Given the description of an element on the screen output the (x, y) to click on. 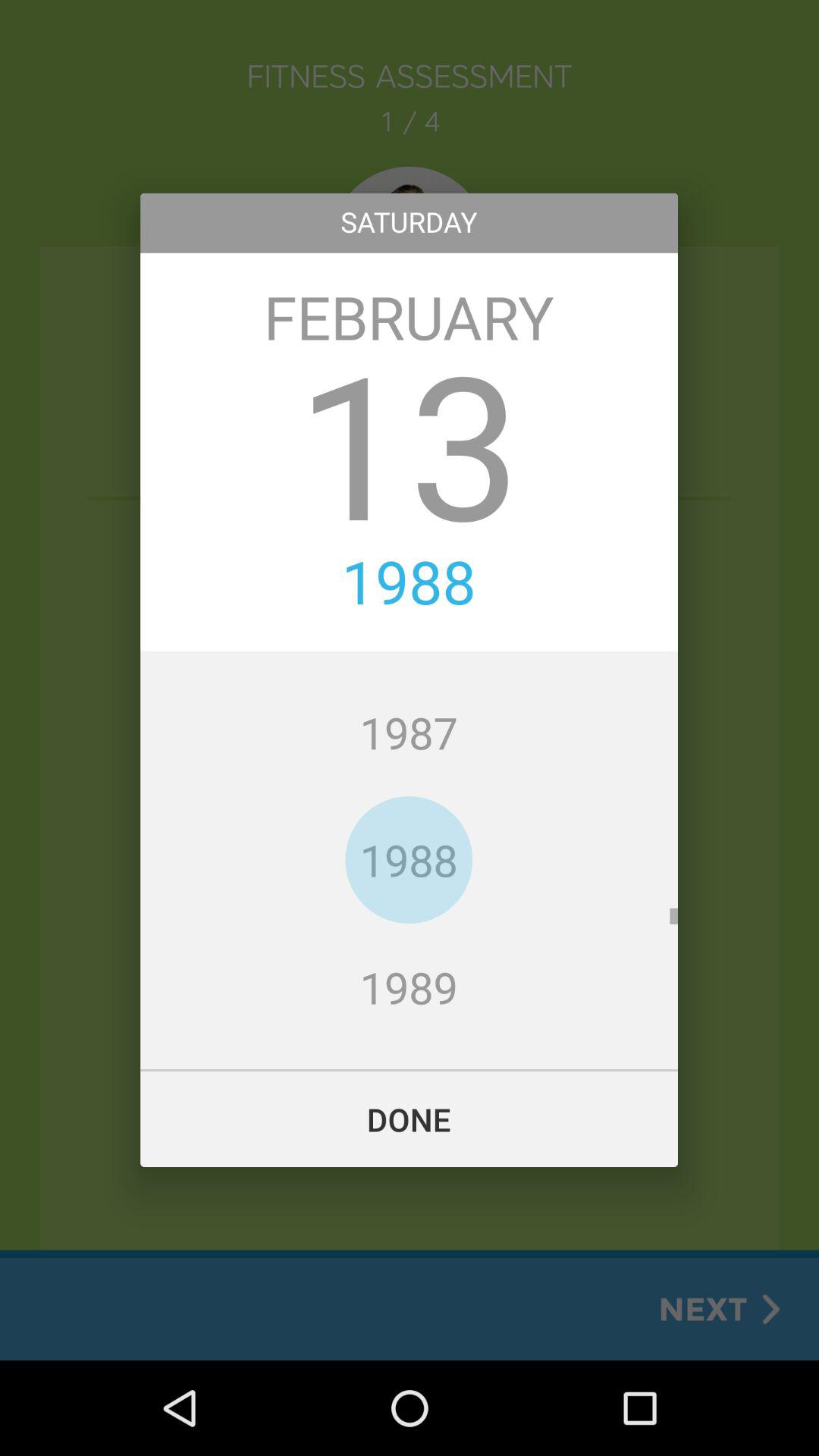
scroll until done item (408, 1119)
